Given the description of an element on the screen output the (x, y) to click on. 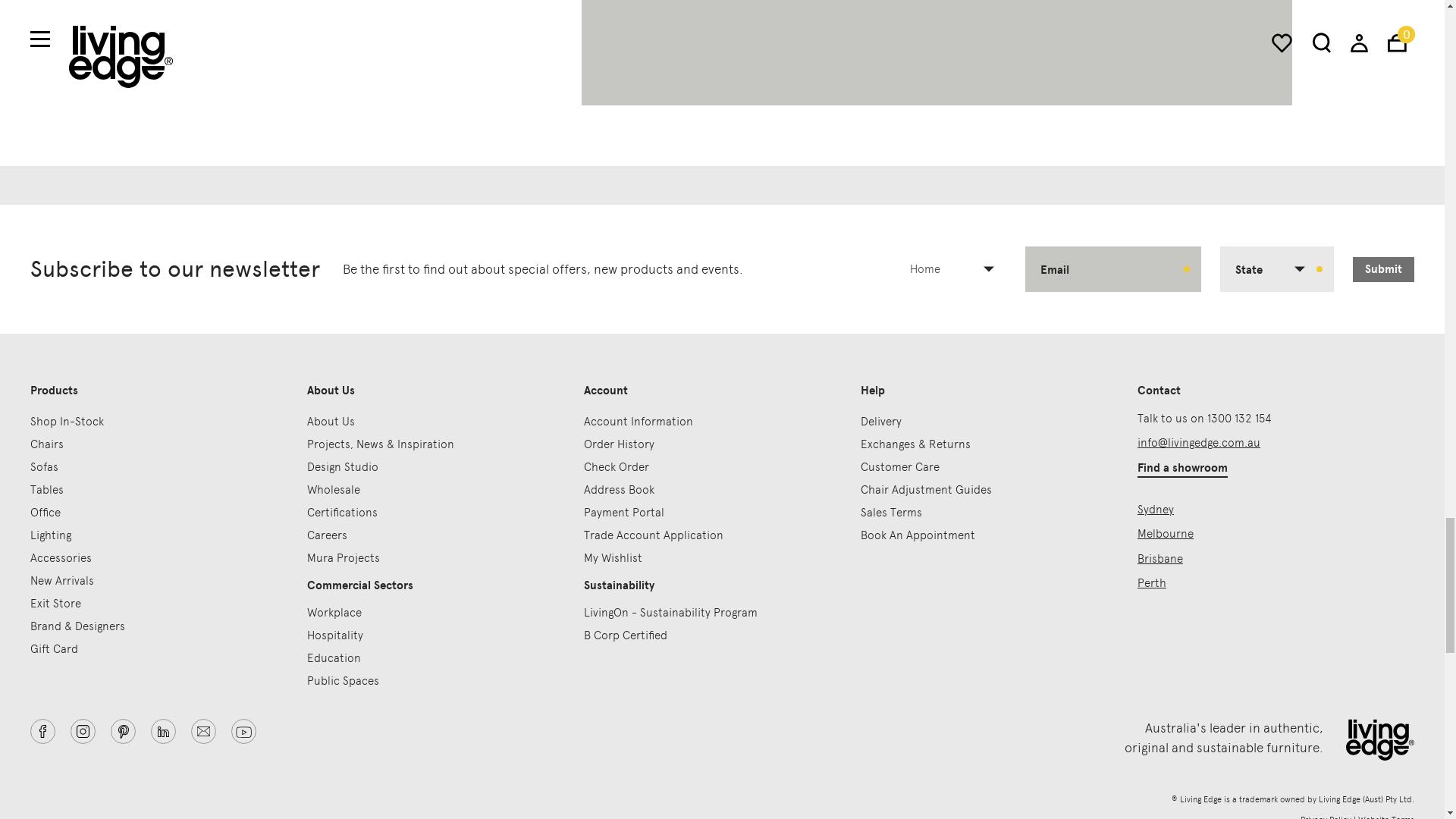
Home (958, 269)
